Given the description of an element on the screen output the (x, y) to click on. 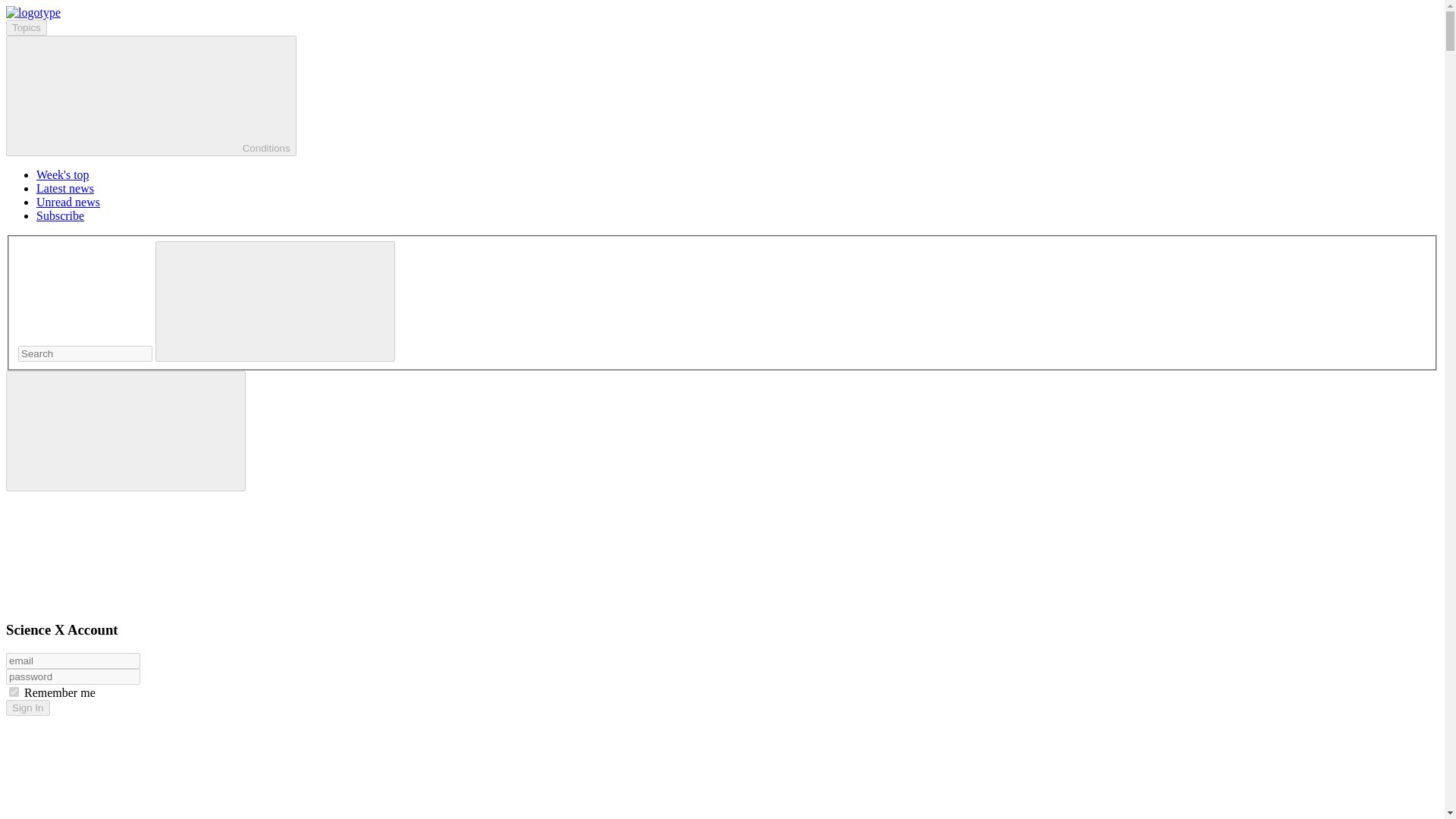
Unread news (68, 201)
on (13, 691)
Conditions (151, 96)
Topics (25, 27)
Sign In (27, 707)
Subscribe (60, 215)
Latest news (65, 187)
Week's top (62, 174)
